Given the description of an element on the screen output the (x, y) to click on. 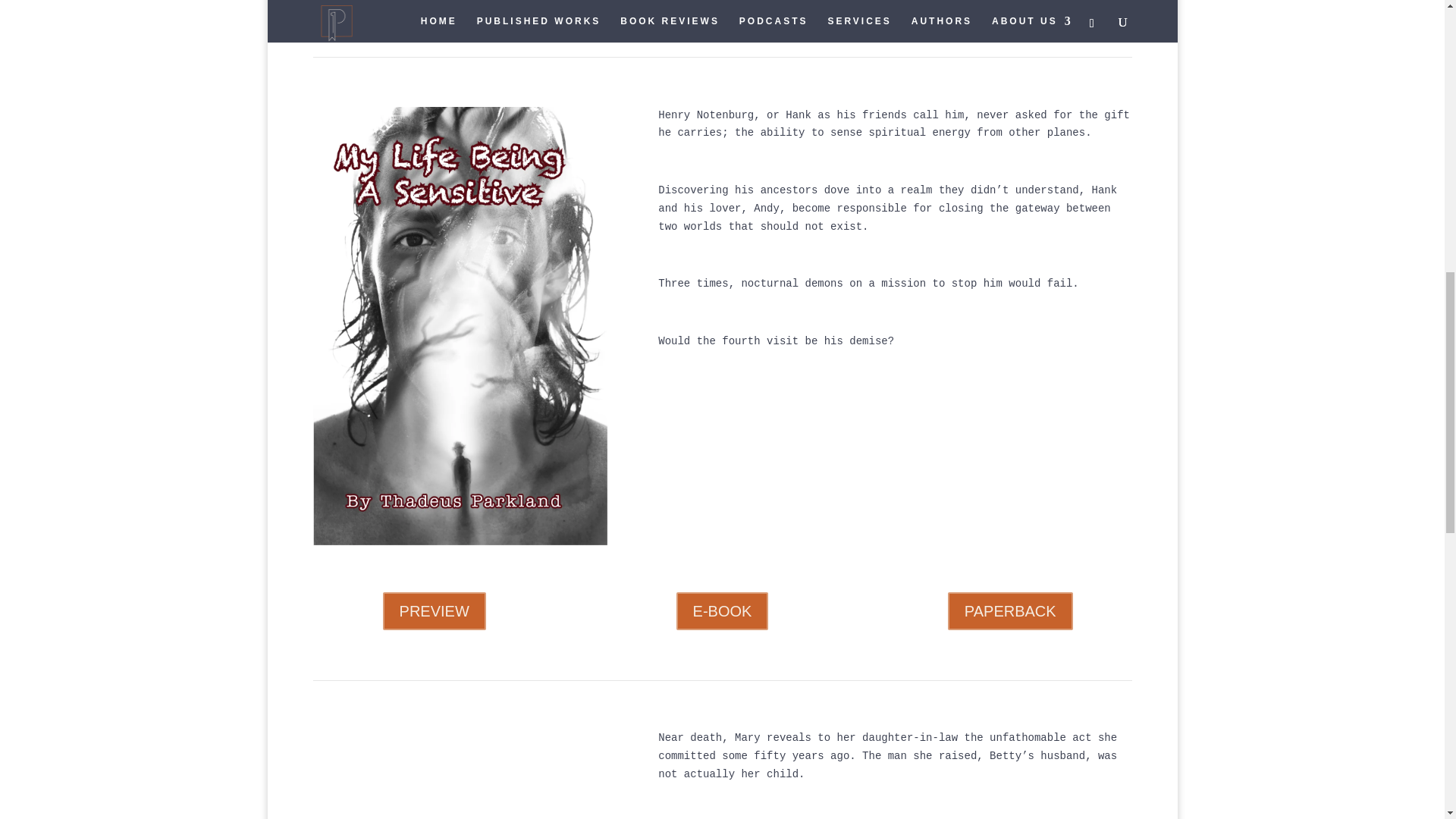
PAPERBACK (1010, 610)
PREVIEW (434, 3)
PREVIEW (434, 610)
E-BOOK (722, 3)
E-BOOK (722, 610)
